Given the description of an element on the screen output the (x, y) to click on. 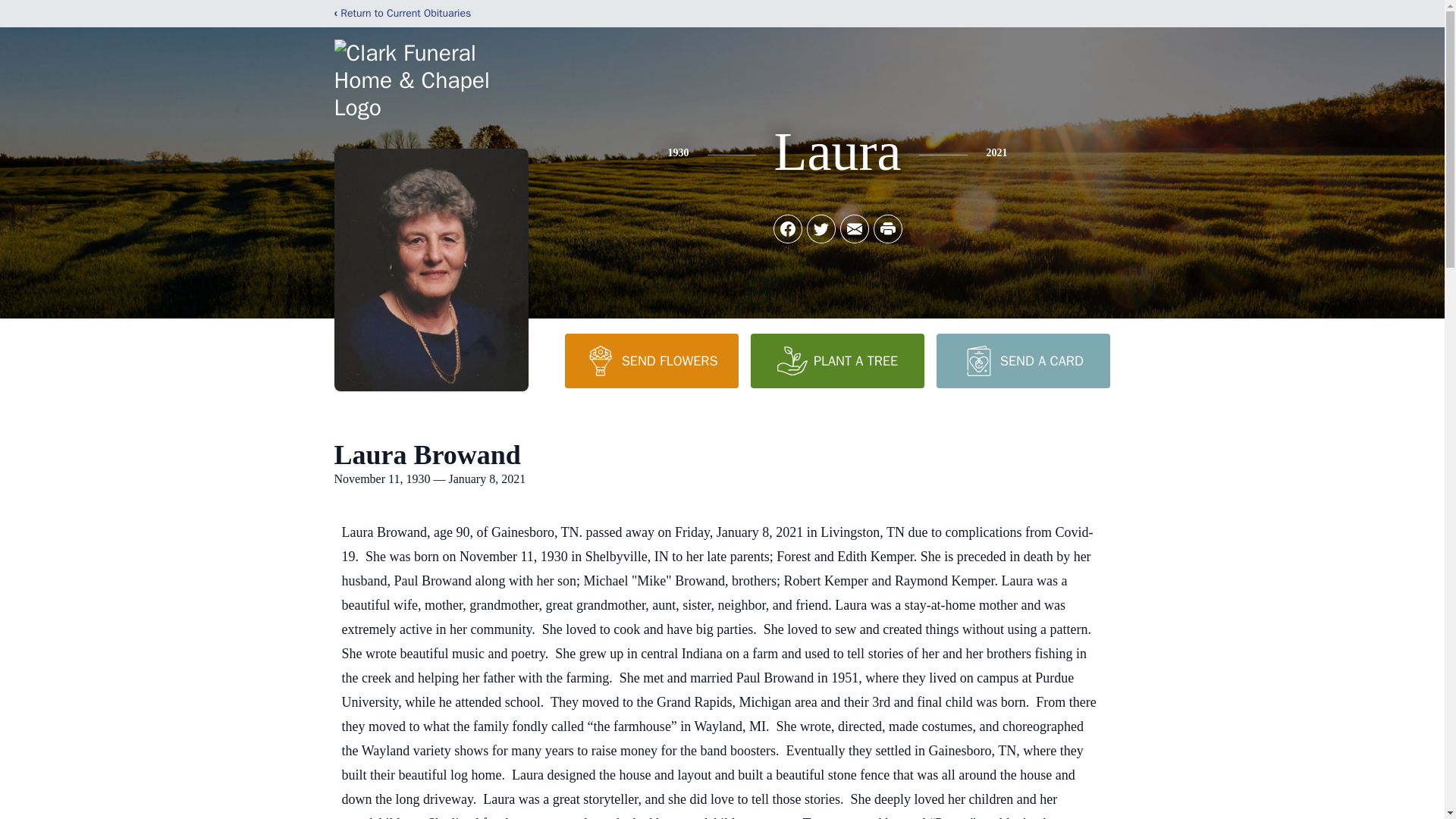
SEND FLOWERS (651, 360)
PLANT A TREE (837, 360)
SEND A CARD (1022, 360)
